Given the description of an element on the screen output the (x, y) to click on. 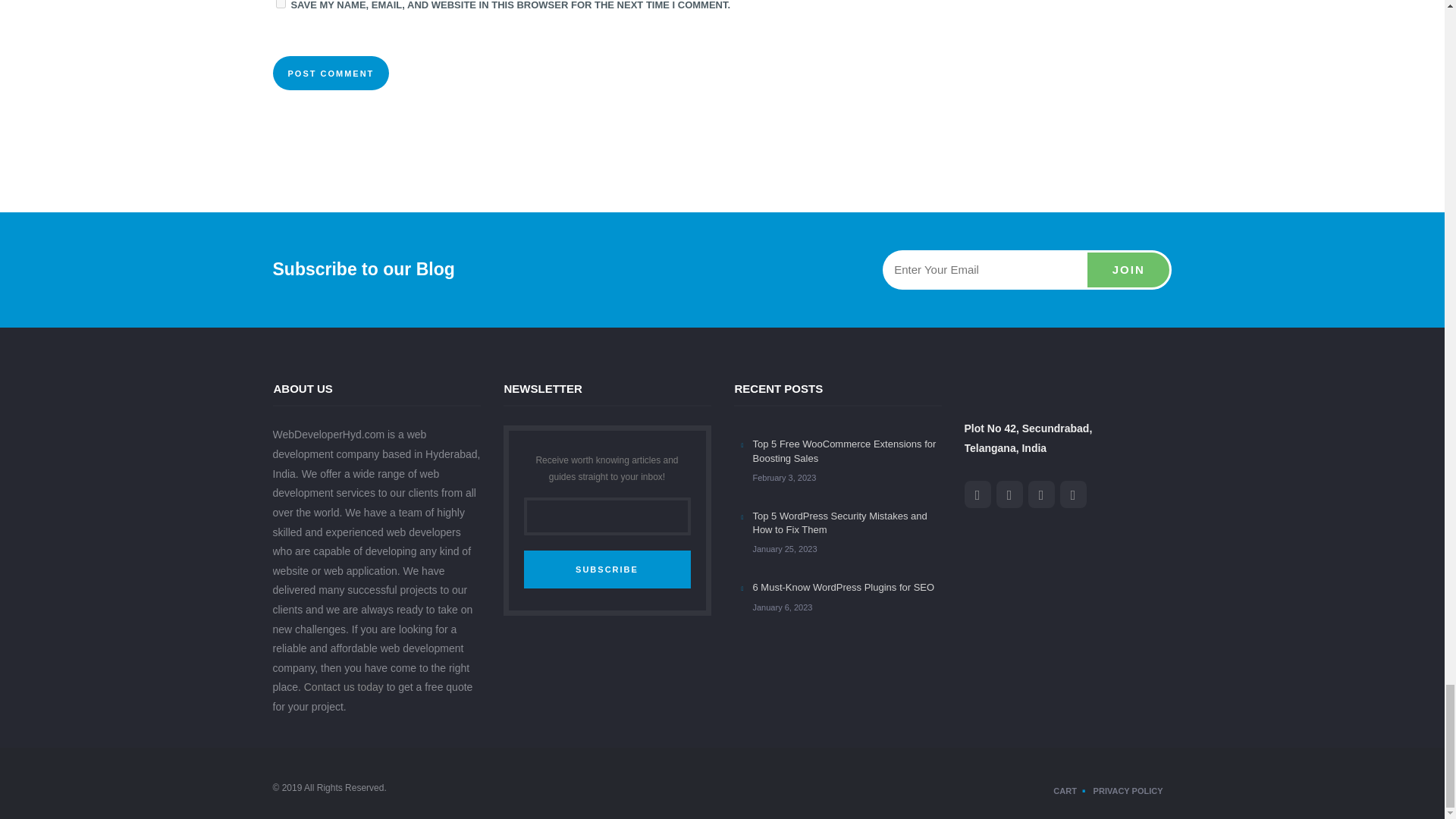
yes (280, 4)
Post Comment (331, 73)
